Given the description of an element on the screen output the (x, y) to click on. 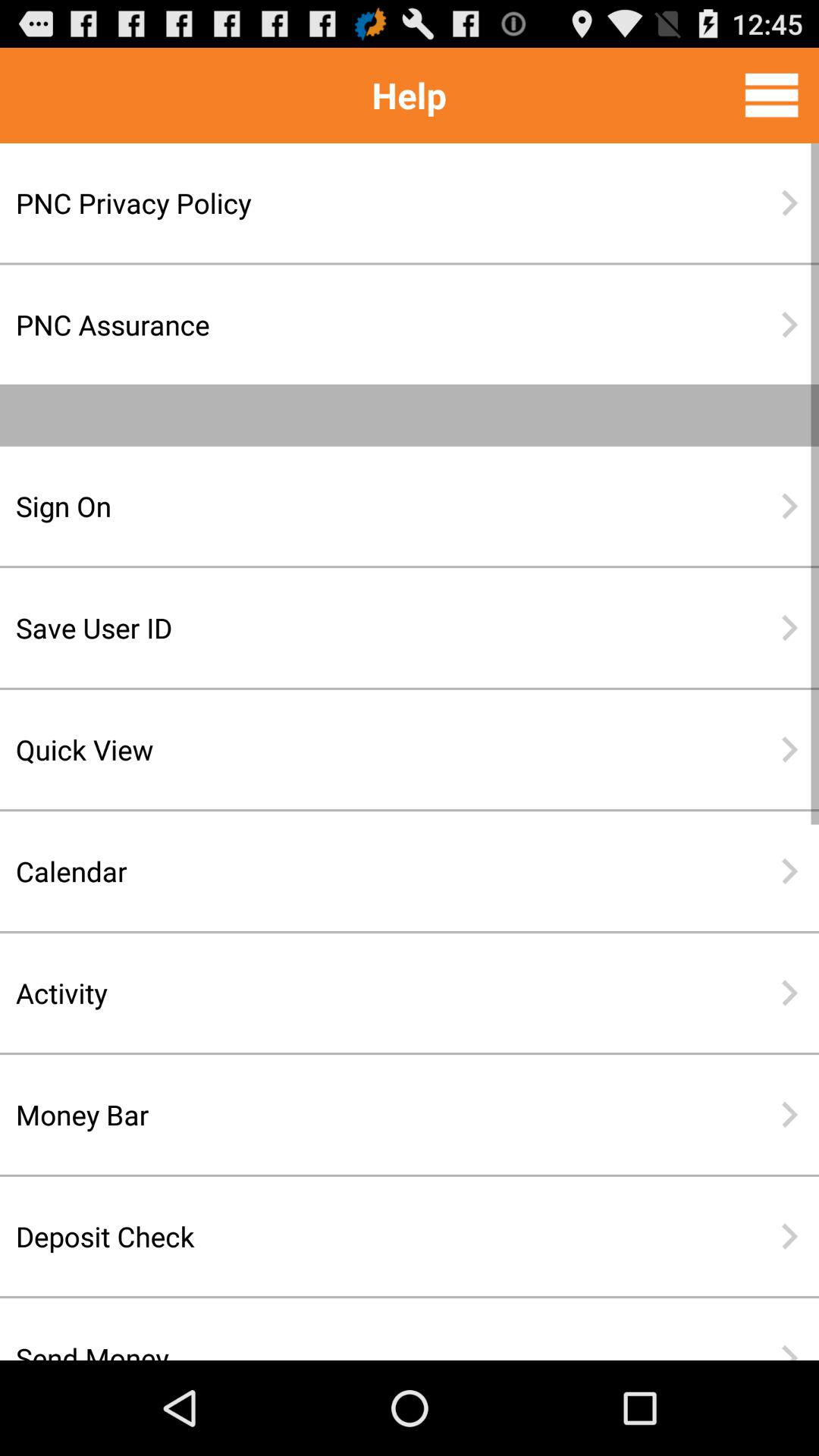
turn on icon to the right of activity icon (789, 992)
